Given the description of an element on the screen output the (x, y) to click on. 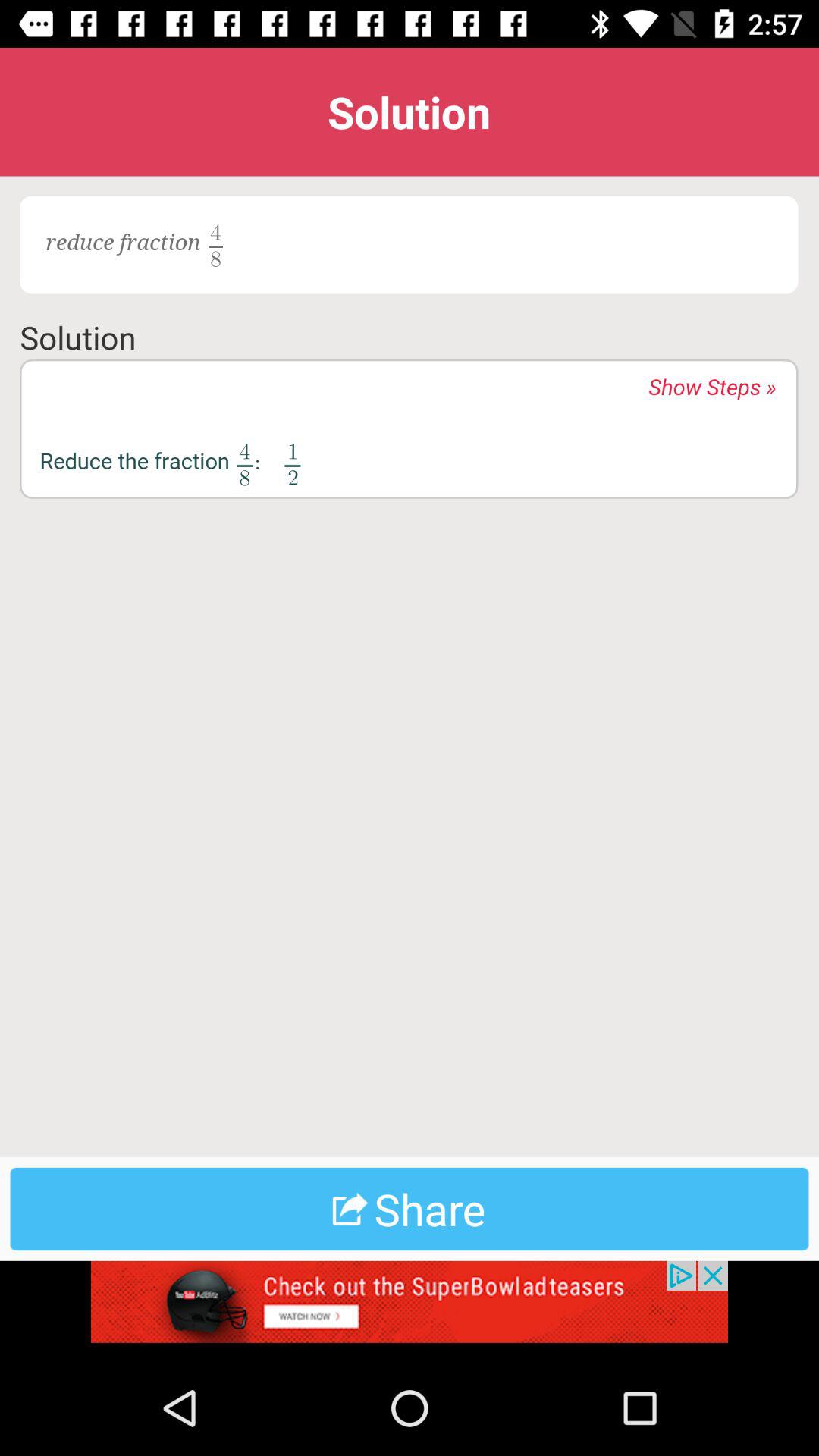
open this advertisement (409, 1310)
